Given the description of an element on the screen output the (x, y) to click on. 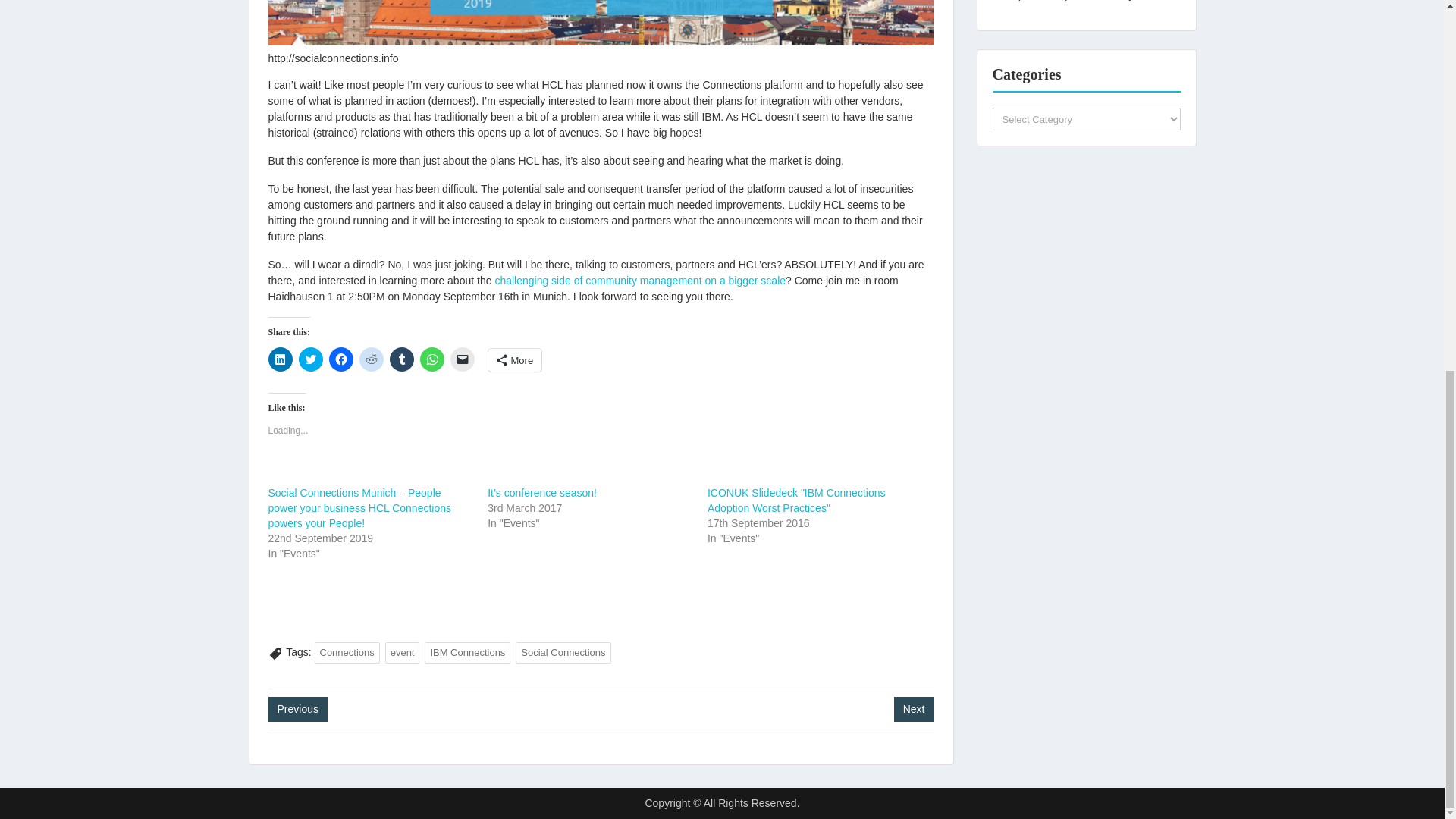
Click to share on Facebook (341, 359)
Previous (297, 708)
ICONUK Slidedeck "IBM Connections Adoption Worst Practices" (796, 500)
Next (913, 708)
More (514, 359)
Social Connections (562, 652)
Click to share on Twitter (310, 359)
Click to share on Tumblr (401, 359)
Click to email a link to a friend (461, 359)
event (402, 652)
Connections (346, 652)
Click to share on WhatsApp (432, 359)
IBM Connections (468, 652)
Click to share on LinkedIn (279, 359)
challenging side of community management on a bigger scale (640, 280)
